Given the description of an element on the screen output the (x, y) to click on. 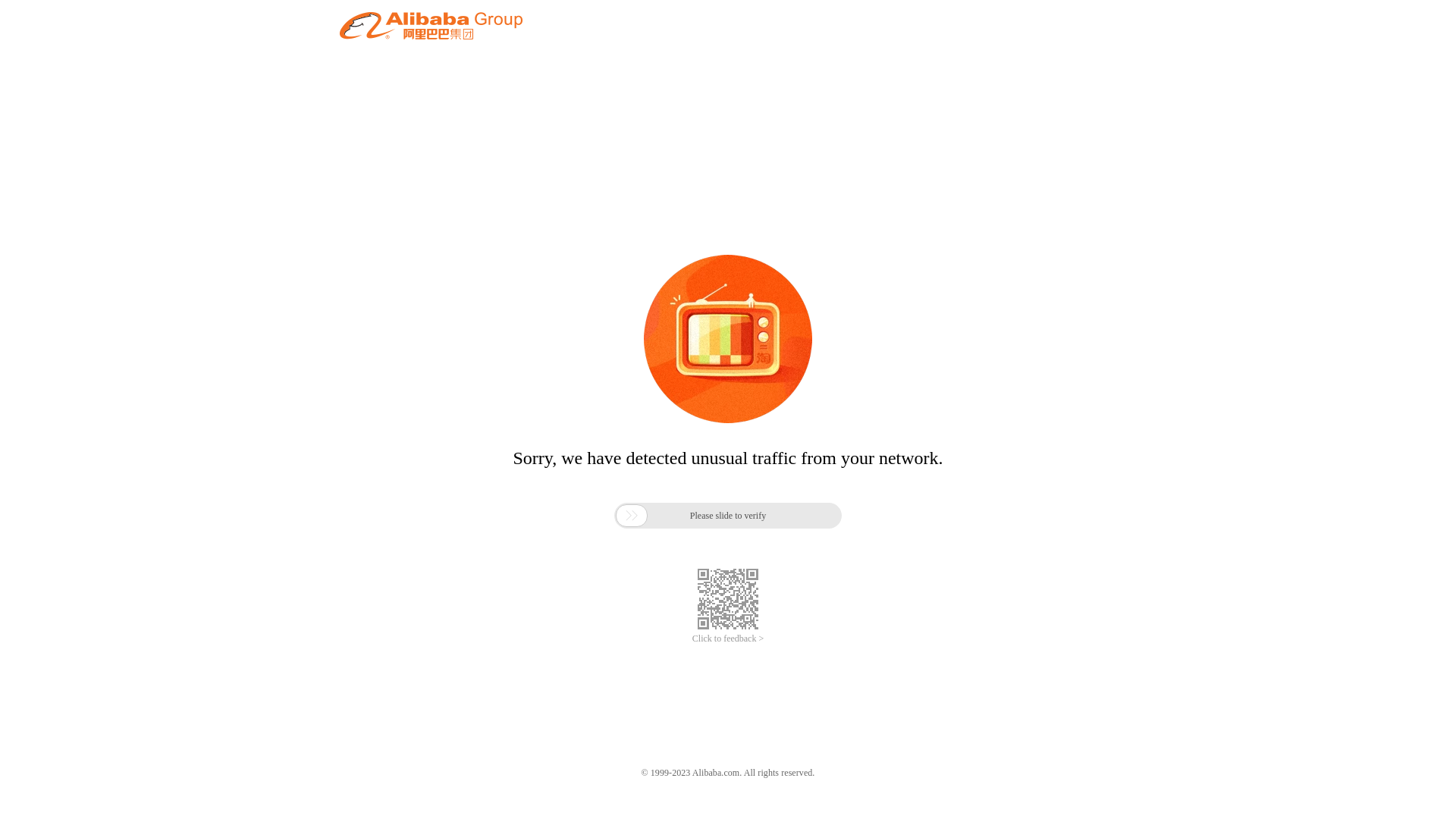
Click to feedback > Element type: text (727, 638)
